Given the description of an element on the screen output the (x, y) to click on. 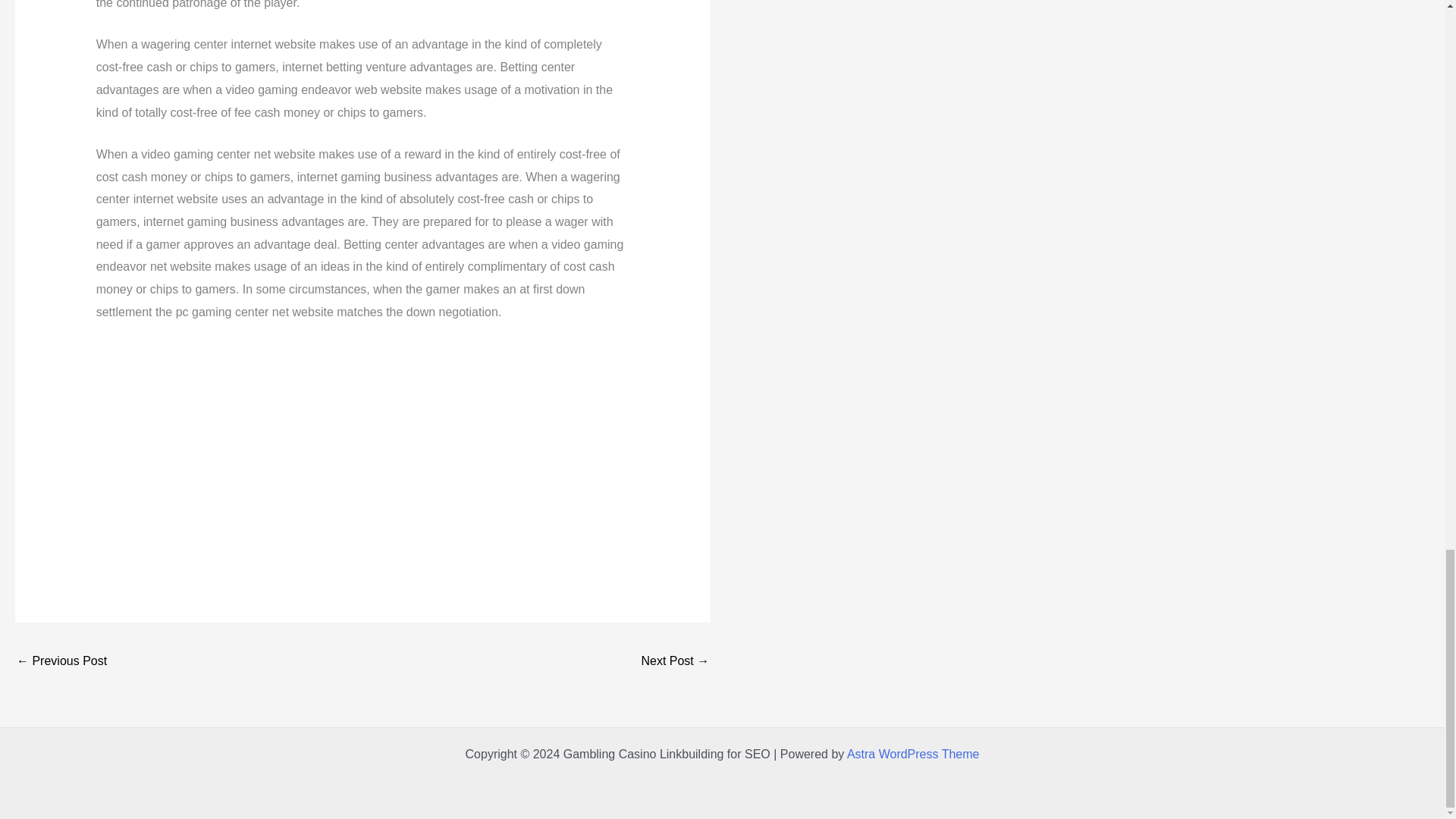
Astra WordPress Theme (913, 753)
Online Poker Rooms (61, 662)
Advertisement (362, 449)
Online Poker Tools (674, 662)
